Given the description of an element on the screen output the (x, y) to click on. 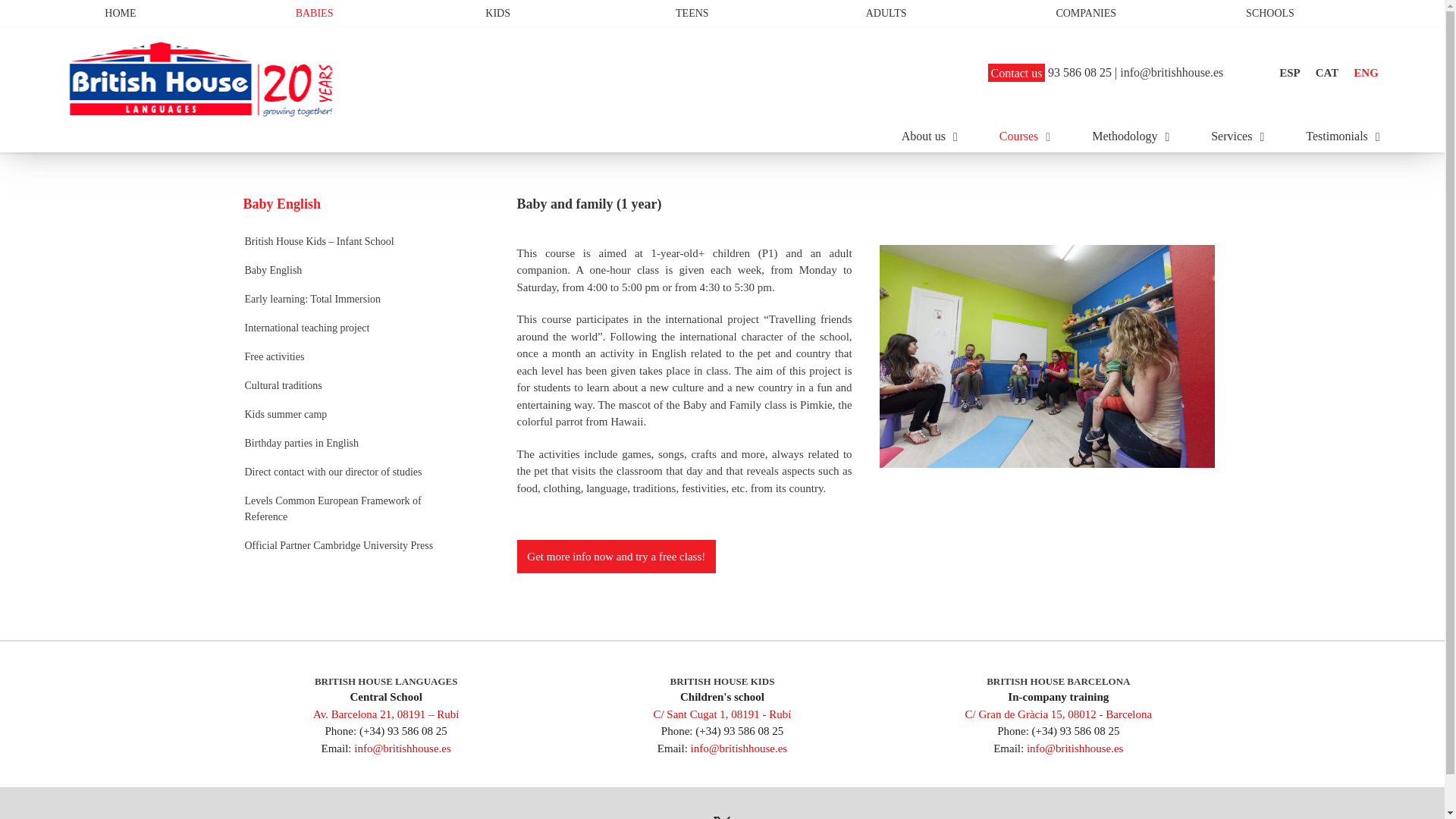
Contact us (1016, 72)
COMPANIES (1074, 13)
HOME (124, 13)
ENG (1365, 72)
CAT (1326, 72)
TEENS (694, 13)
Get more info now and try a free class! (865, 568)
ADULTS (884, 13)
Methodology (1130, 136)
